Given the description of an element on the screen output the (x, y) to click on. 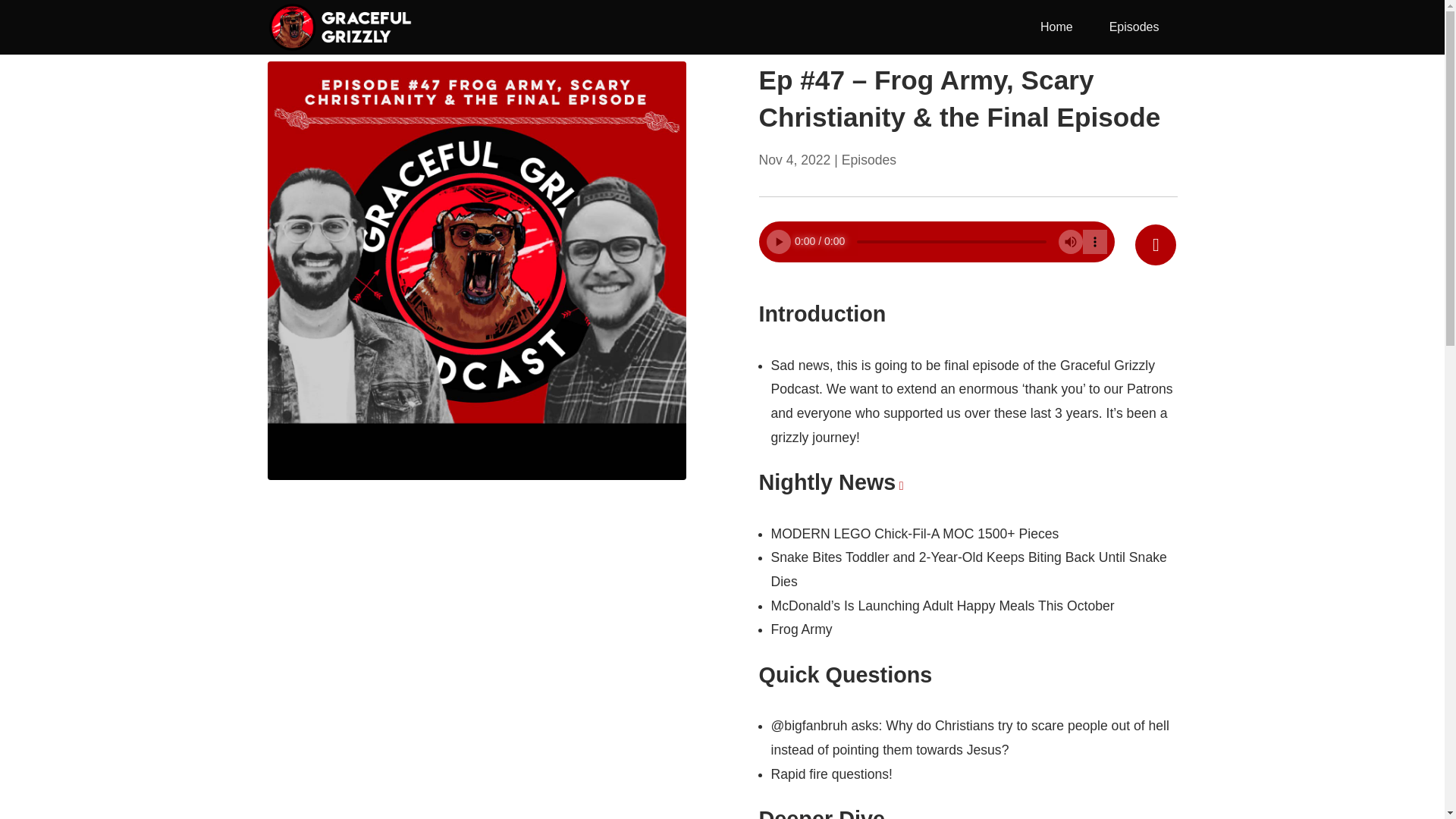
Download Episode (1155, 244)
Episodes (1133, 27)
Episodes (868, 159)
Home (1056, 27)
